Given the description of an element on the screen output the (x, y) to click on. 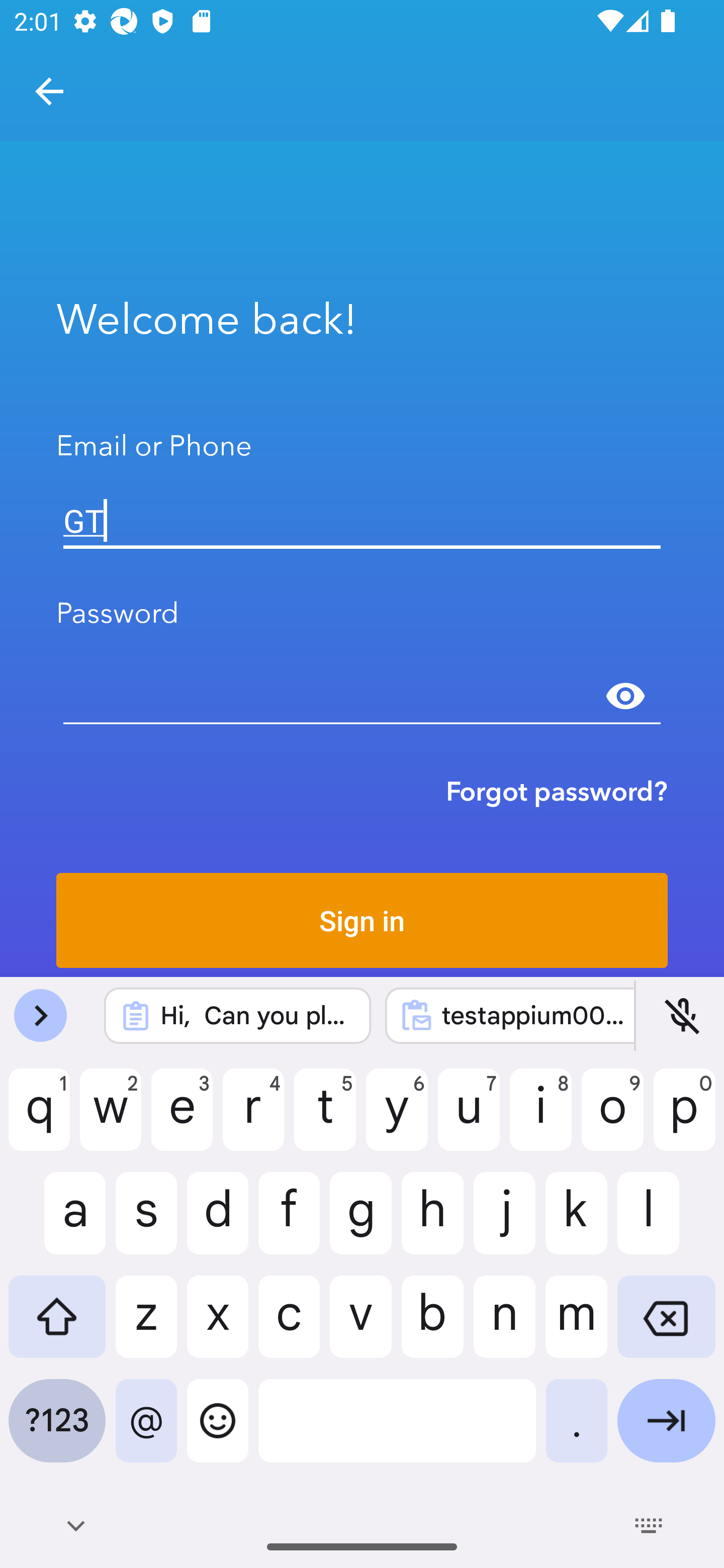
Navigate up (49, 91)
GT (361, 521)
Show password (625, 695)
Forgot password? (556, 790)
Sign in (361, 920)
